Given the description of an element on the screen output the (x, y) to click on. 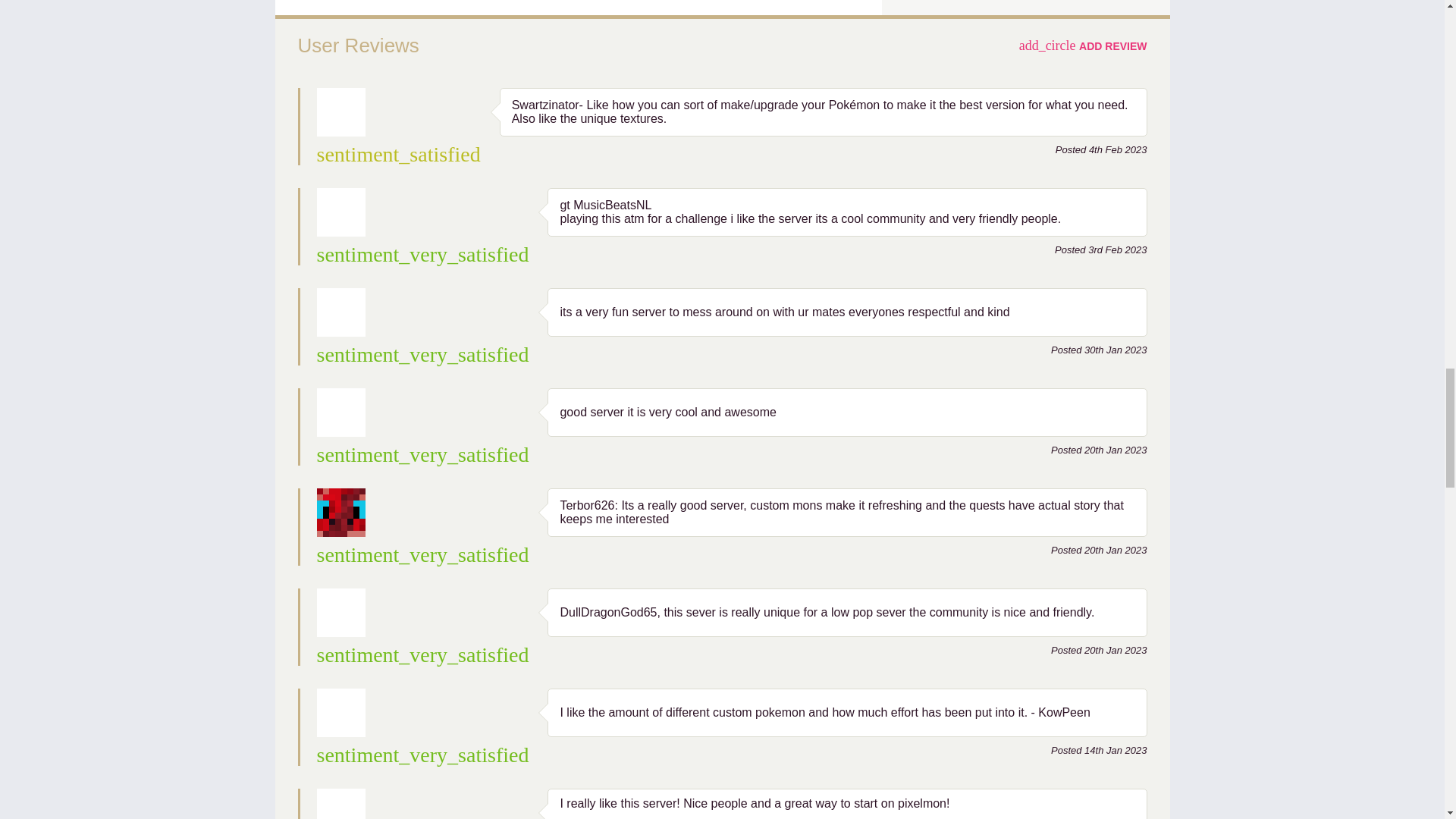
Terbor626 (341, 512)
